Given the description of an element on the screen output the (x, y) to click on. 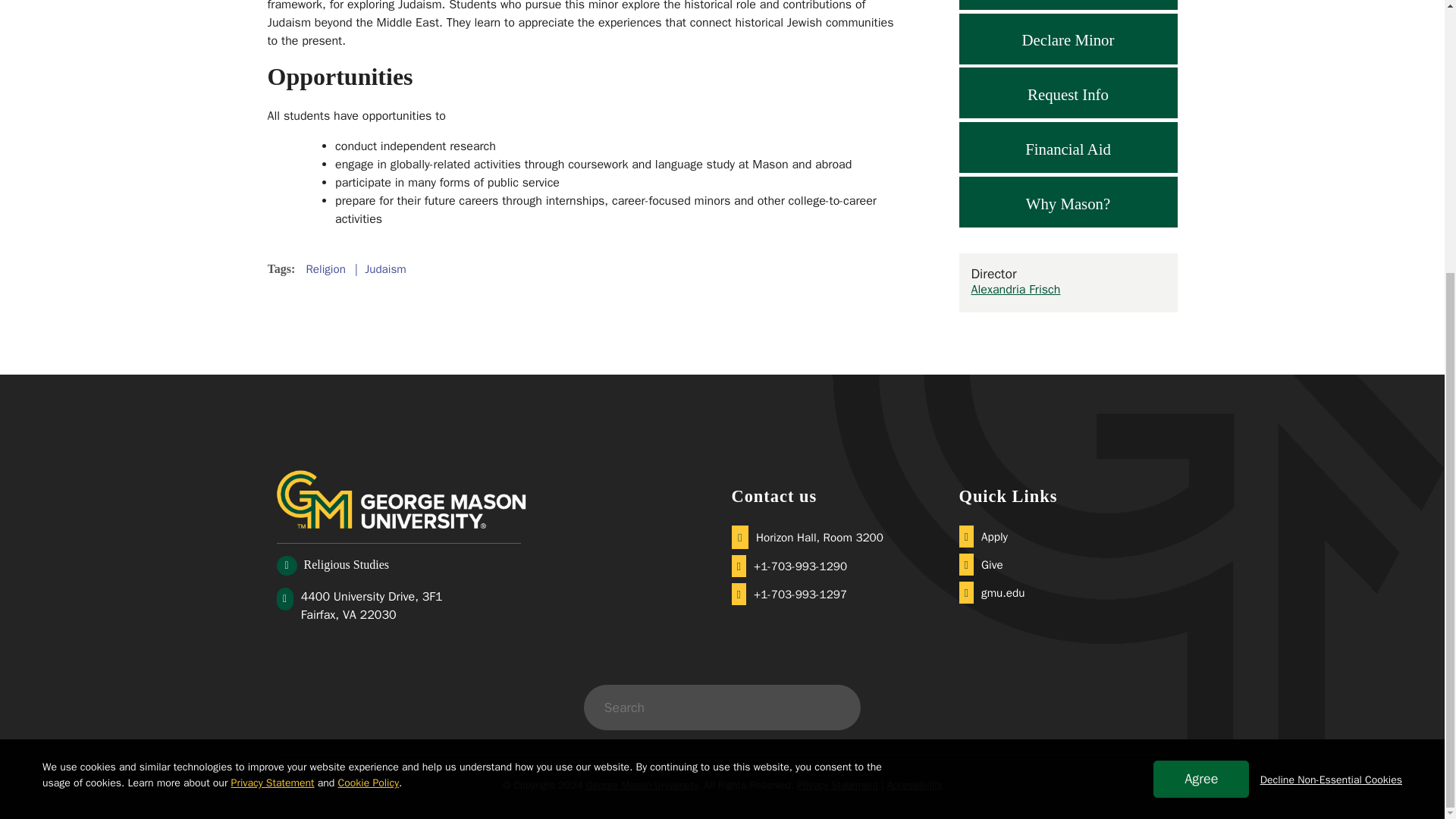
Privacy Statement (272, 382)
Agree (1201, 378)
George Mason University Cookie Policy (367, 382)
Cookie Policy (367, 382)
Decline Non-Essential Cookies (1331, 379)
George Mason University Privacy Statement (272, 382)
